Given the description of an element on the screen output the (x, y) to click on. 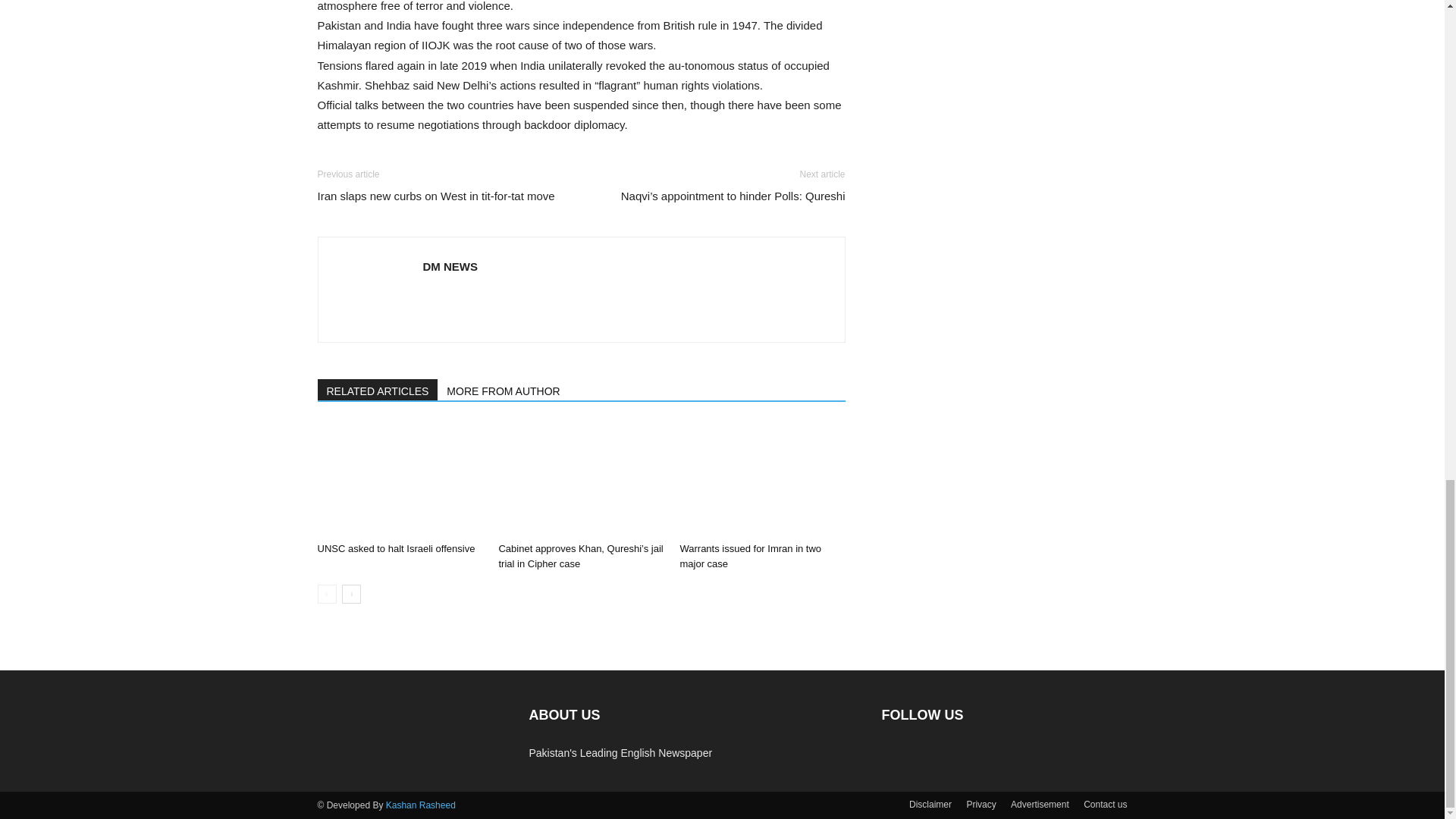
UNSC asked to halt Israeli offensive (399, 479)
UNSC asked to halt Israeli offensive (395, 548)
Warrants issued for Imran in two major case (761, 479)
Warrants issued for Imran in two major case (750, 555)
